Given the description of an element on the screen output the (x, y) to click on. 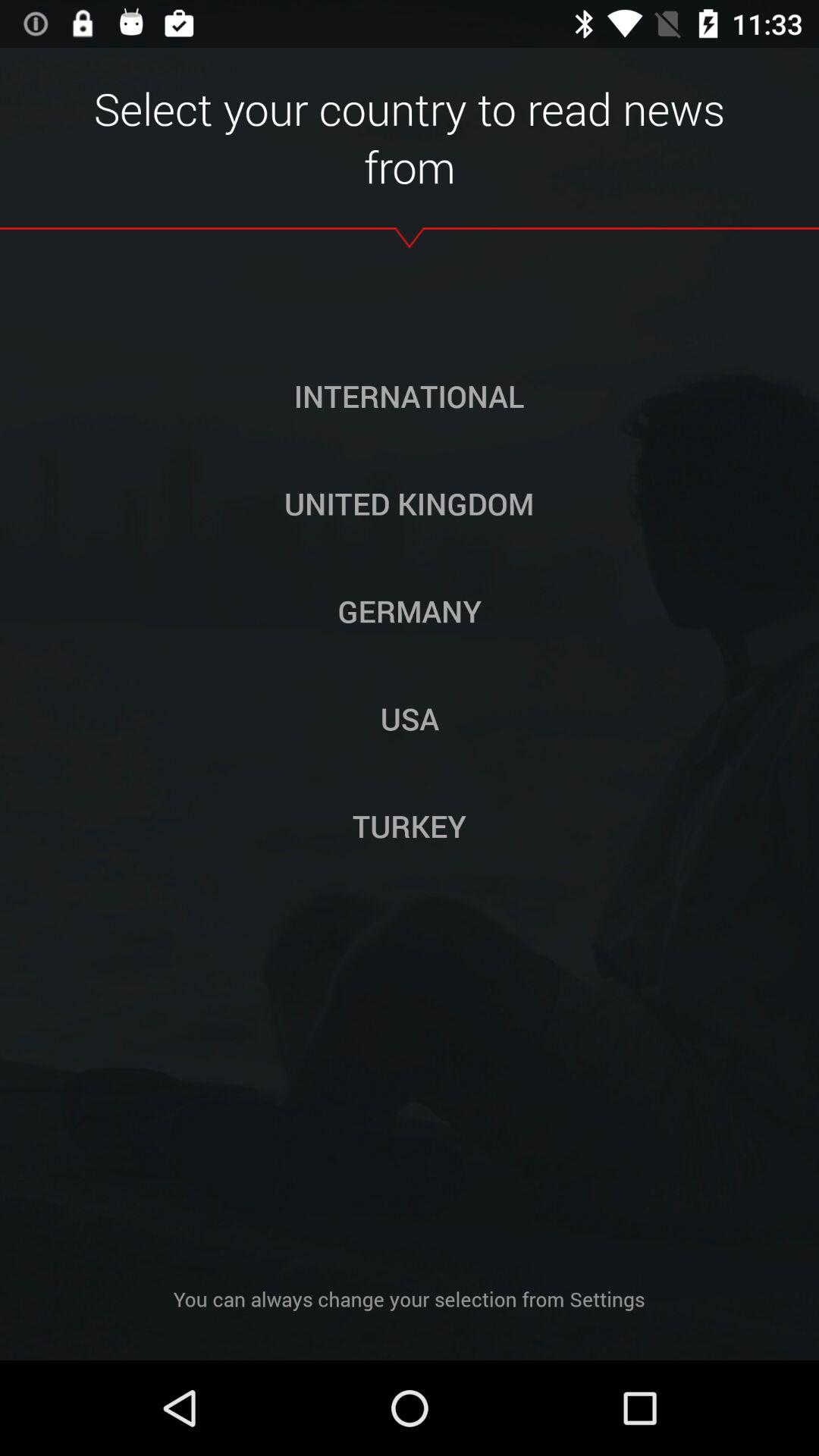
jump to the united kingdom icon (409, 503)
